Given the description of an element on the screen output the (x, y) to click on. 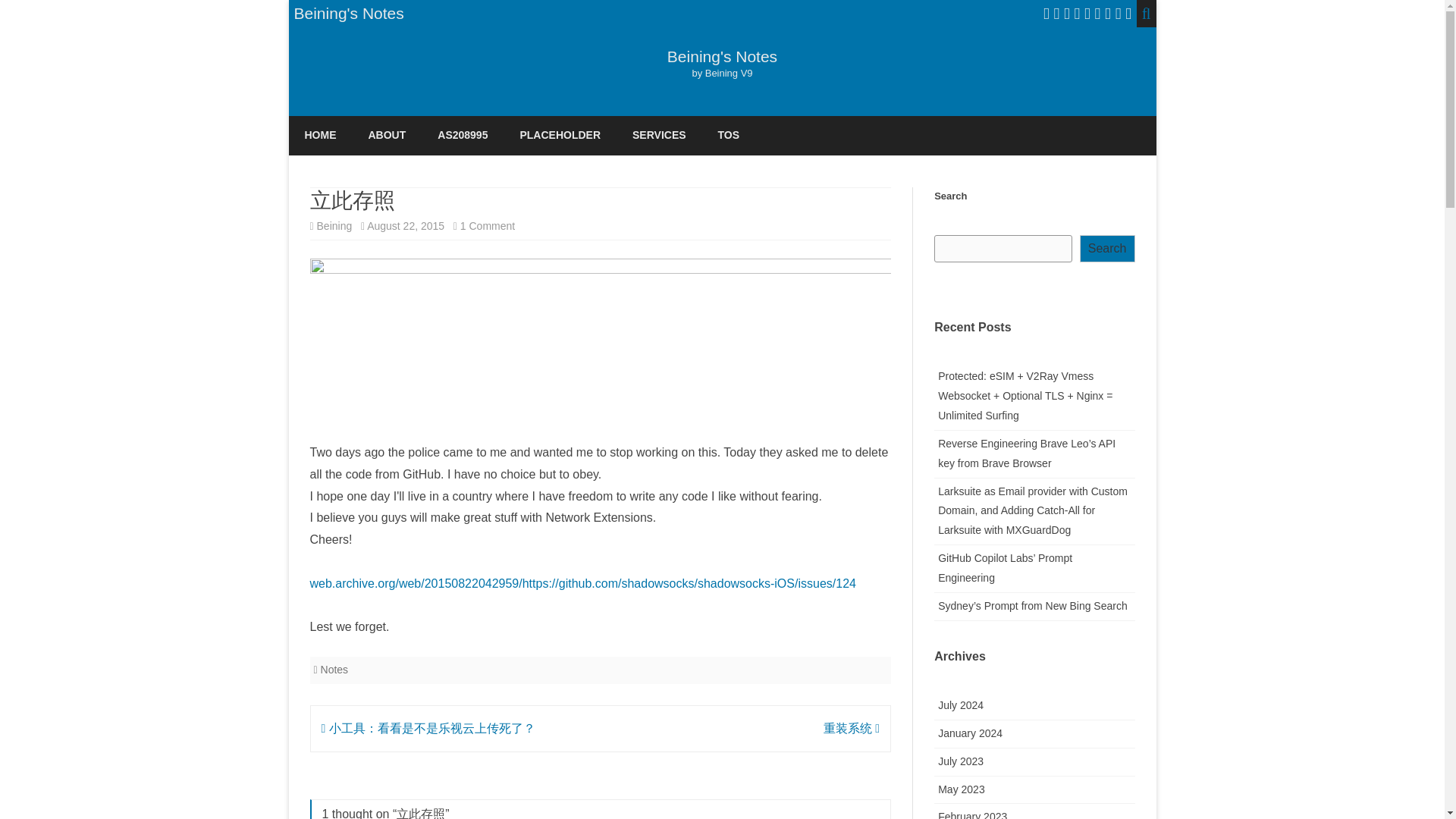
Beining (334, 225)
SERVICES (658, 135)
Notes (334, 669)
AS208995 (462, 135)
Beining's Notes (721, 56)
ABOUT (387, 135)
PLACEHOLDER (559, 135)
